Given the description of an element on the screen output the (x, y) to click on. 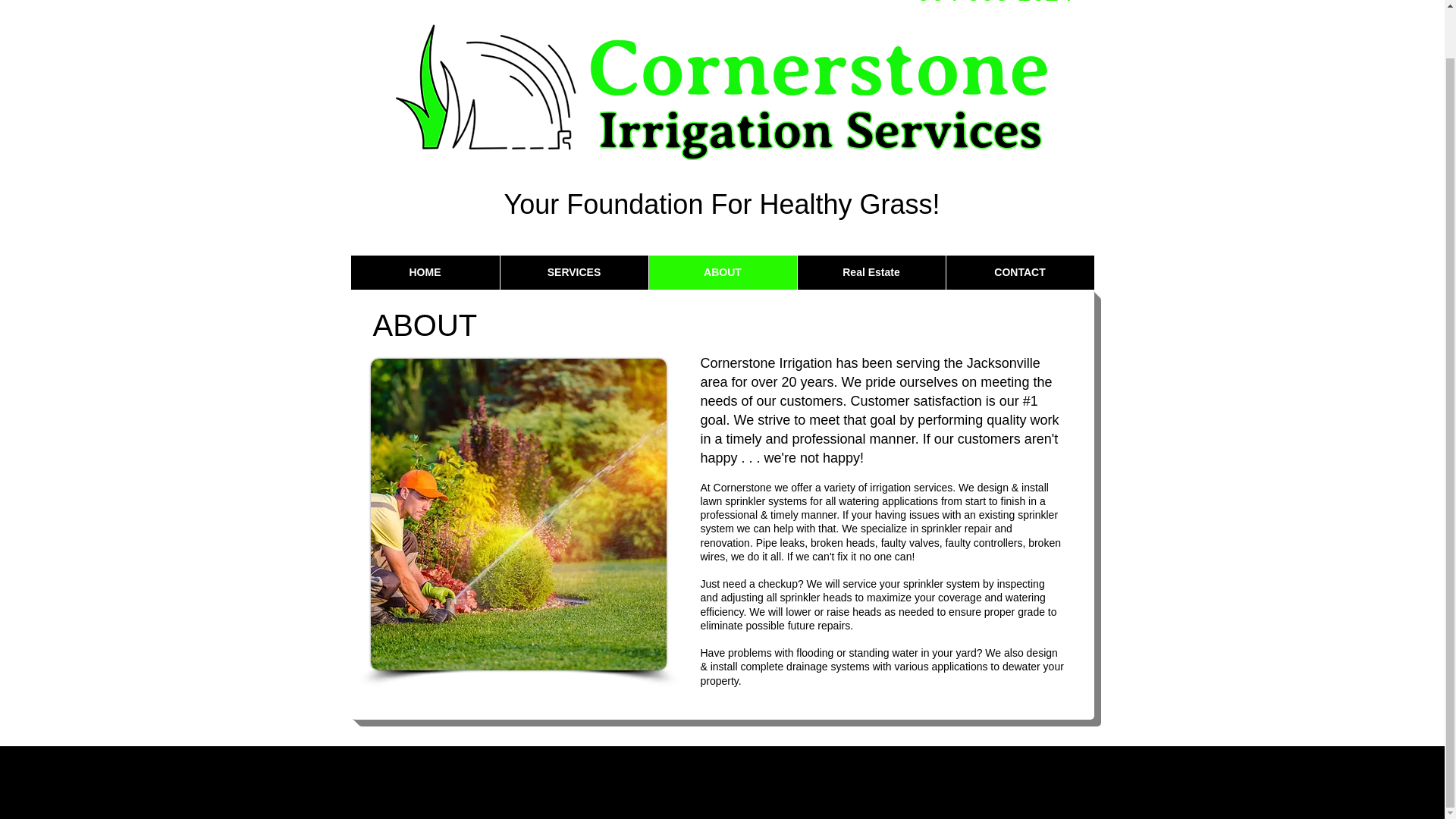
Real Estate (870, 272)
HOME (424, 272)
CONTACT (1018, 272)
SERVICES (573, 272)
ABOUT (721, 272)
